Given the description of an element on the screen output the (x, y) to click on. 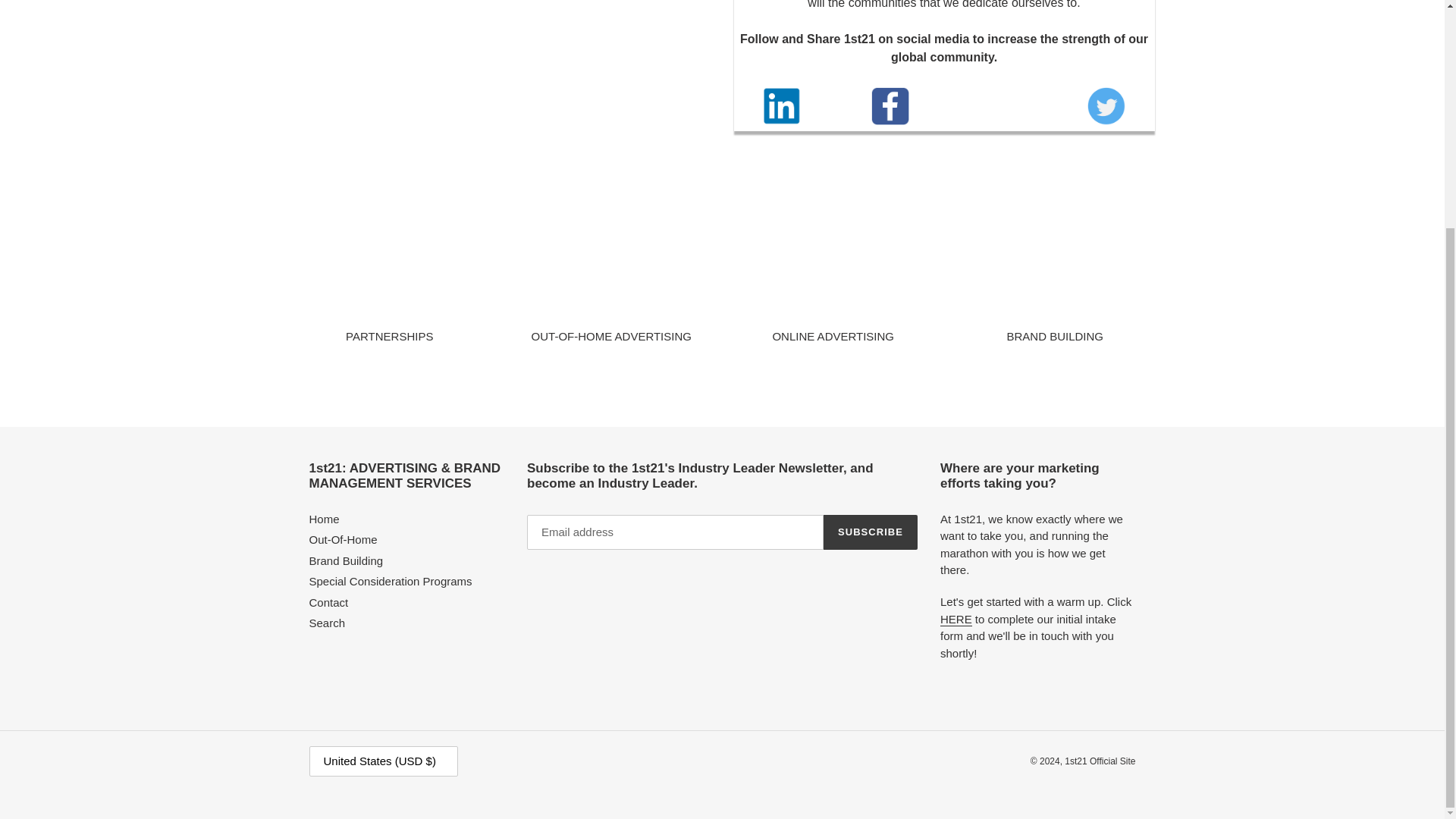
Contact (328, 602)
Brand Building (346, 560)
Special Consideration Programs (389, 581)
Out-Of-Home (342, 539)
Home (323, 518)
